Given the description of an element on the screen output the (x, y) to click on. 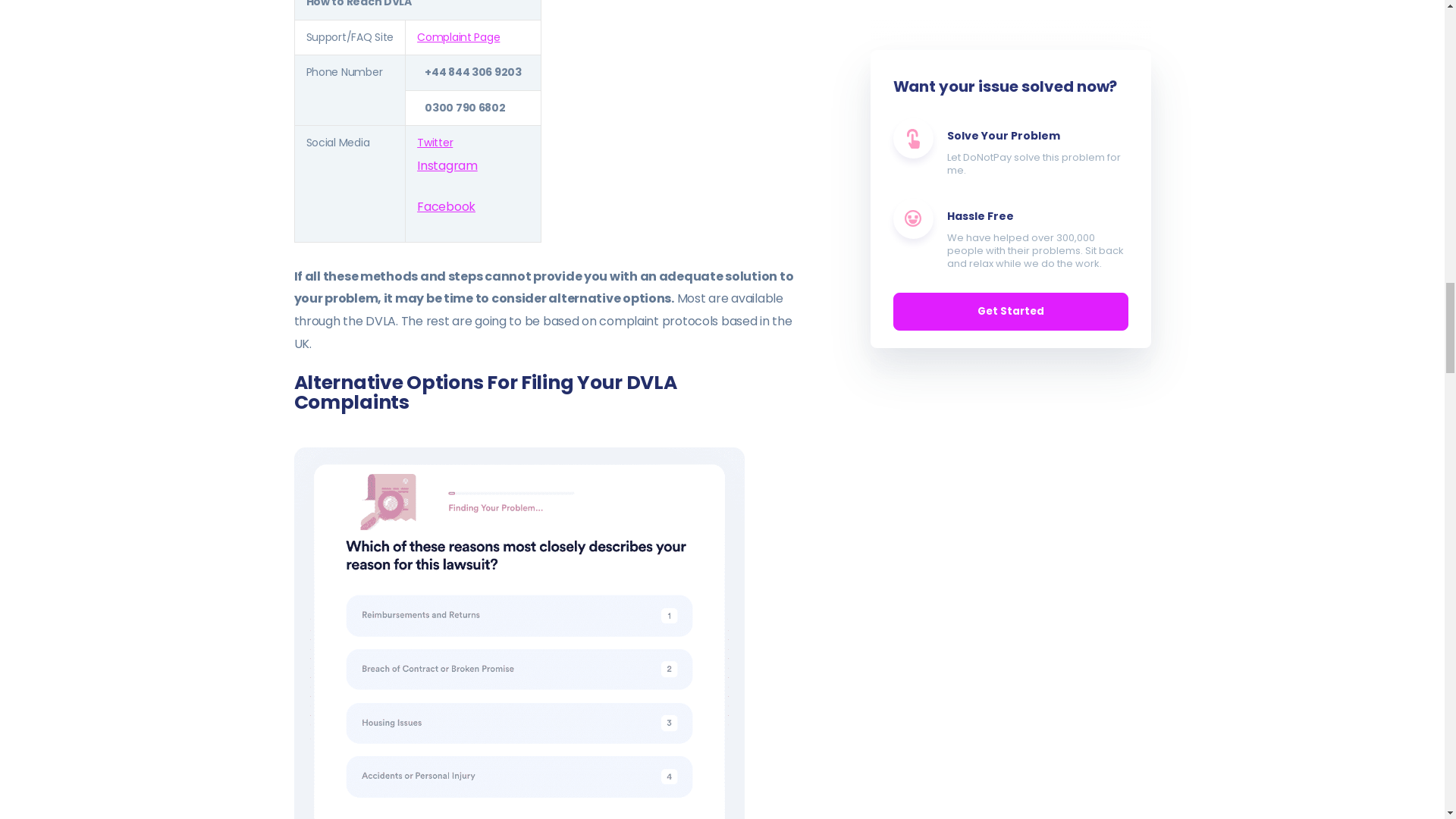
Instagram (446, 165)
Twitter (434, 142)
Complaint Page (457, 37)
Facebook (446, 206)
